Given the description of an element on the screen output the (x, y) to click on. 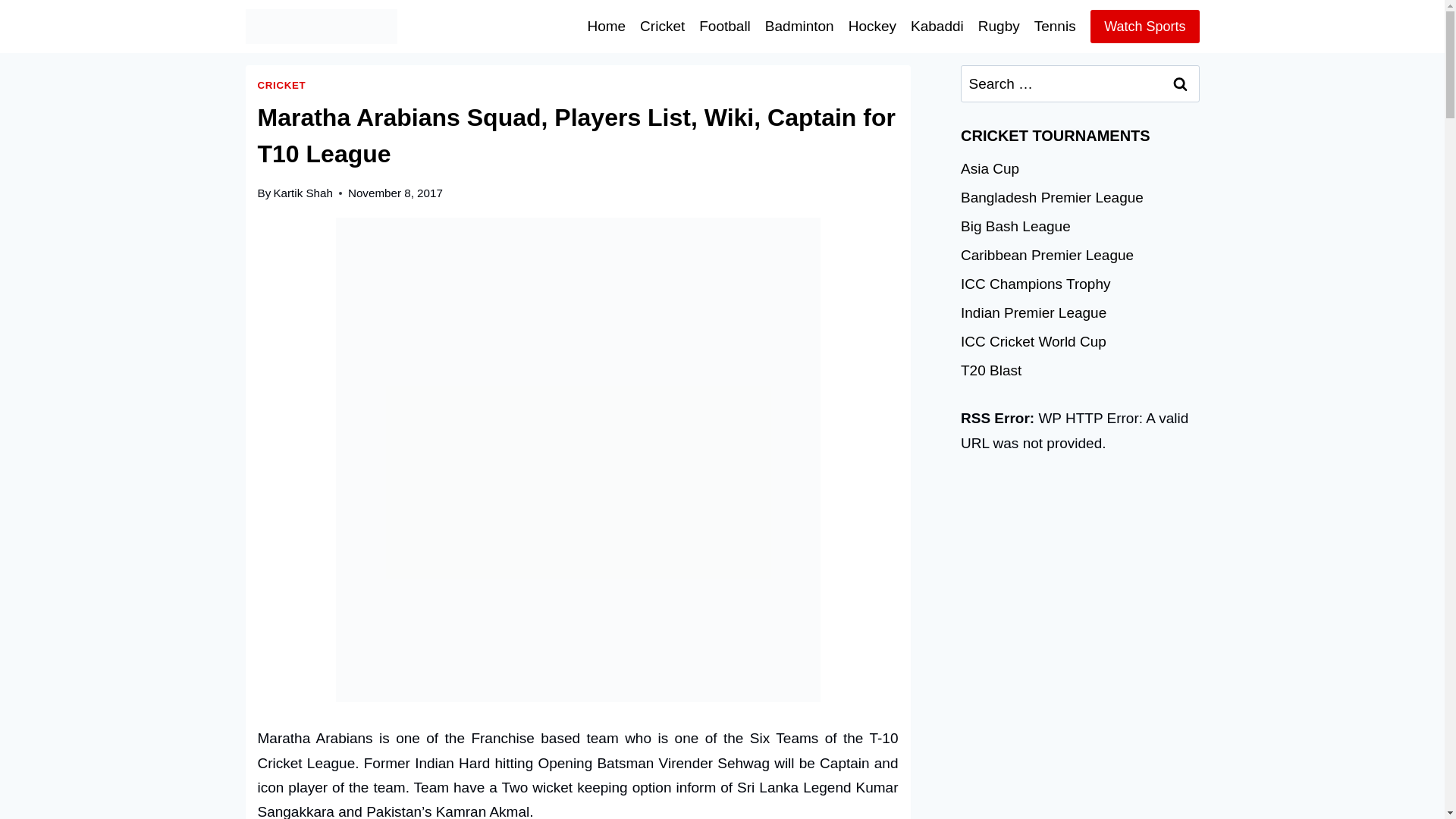
Home (606, 25)
Search (1180, 83)
Hockey (871, 25)
Rugby (998, 25)
Cricket (663, 25)
Watch Sports (1144, 25)
Kabaddi (937, 25)
Search (1180, 83)
Badminton (799, 25)
Football (725, 25)
CRICKET (281, 84)
Kartik Shah (303, 192)
Tennis (1054, 25)
